Given the description of an element on the screen output the (x, y) to click on. 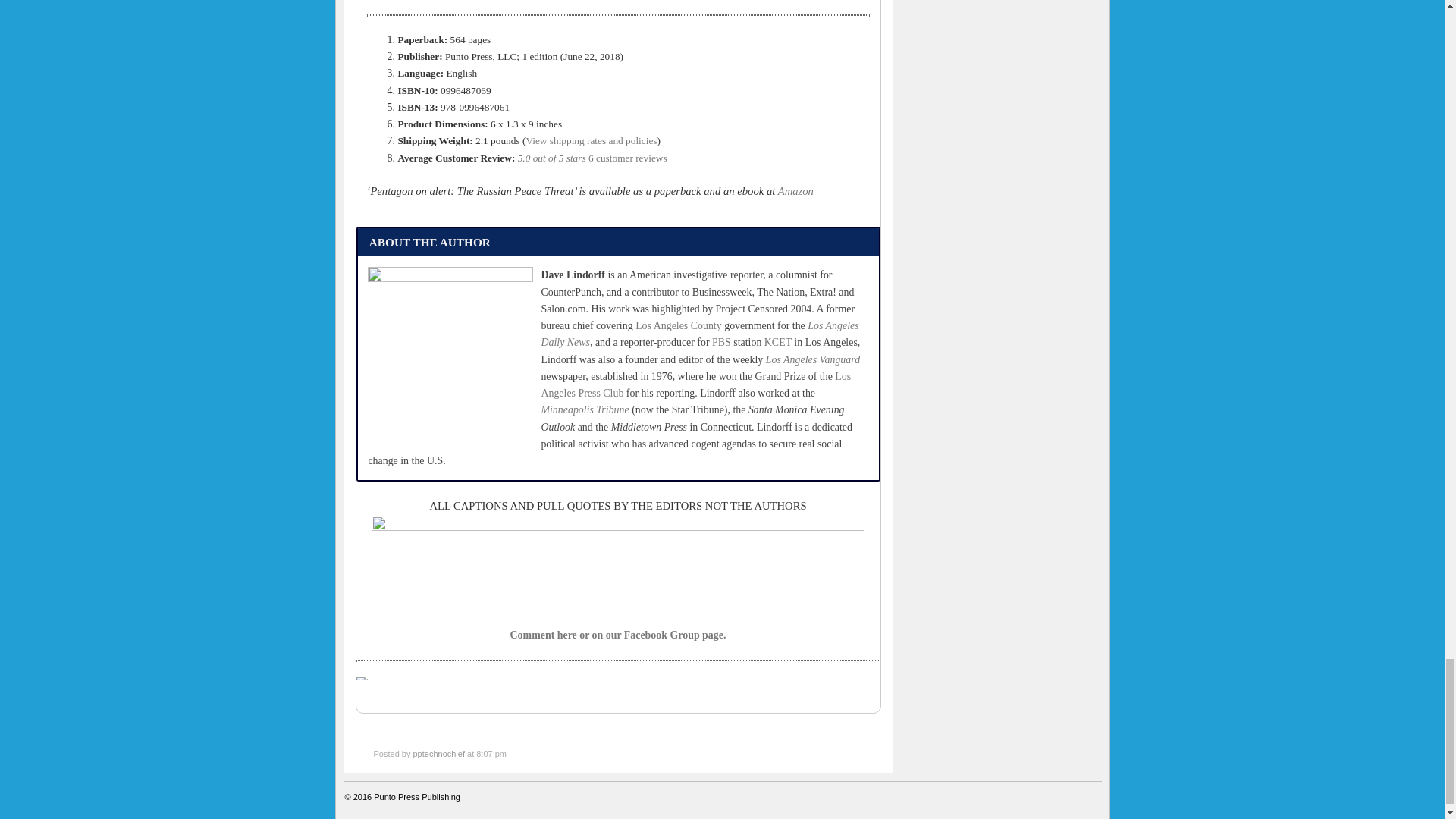
Los Angeles County (678, 325)
Los Angeles Press Club (695, 384)
Los Angeles Vanguard (812, 359)
Los Angeles County (678, 325)
Los Angeles Daily News (699, 334)
6 customer reviews (627, 157)
Los Angeles Vanguard (812, 359)
KCET (778, 342)
Amazon (795, 191)
KCET (778, 342)
PBS (720, 342)
PBS (720, 342)
Los Angeles Press Club (695, 384)
Minneapolis Star Tribune (584, 409)
View shipping rates and policies (590, 140)
